Given the description of an element on the screen output the (x, y) to click on. 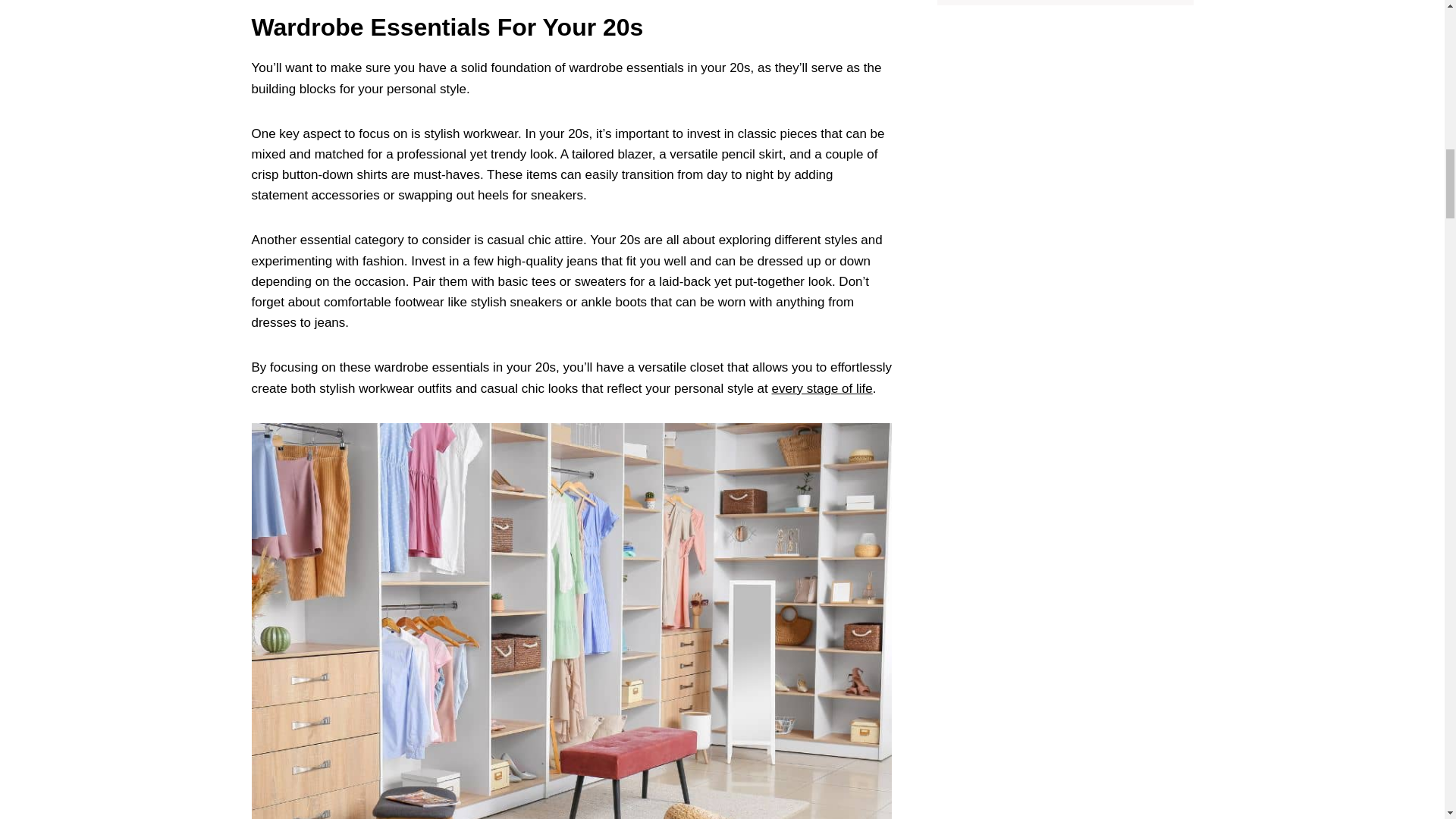
every stage of life (821, 388)
